Given the description of an element on the screen output the (x, y) to click on. 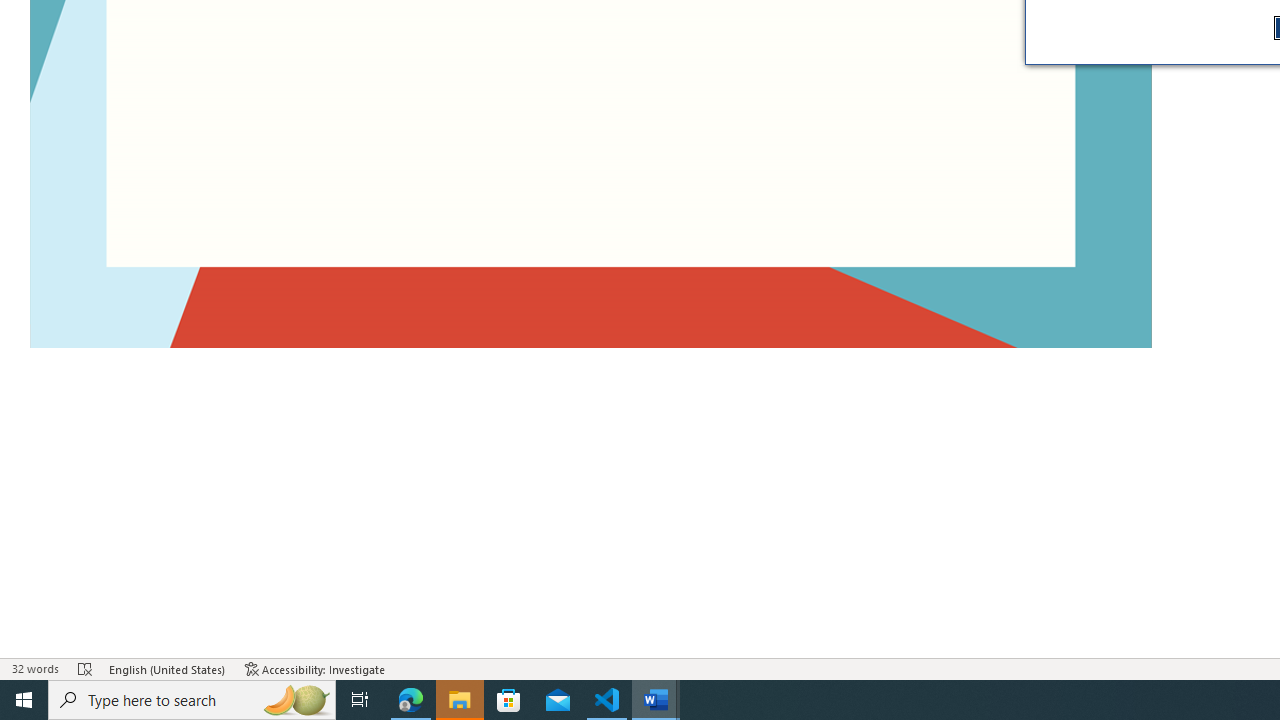
Microsoft Edge - 1 running window (411, 699)
Word Count 32 words (34, 668)
